Given the description of an element on the screen output the (x, y) to click on. 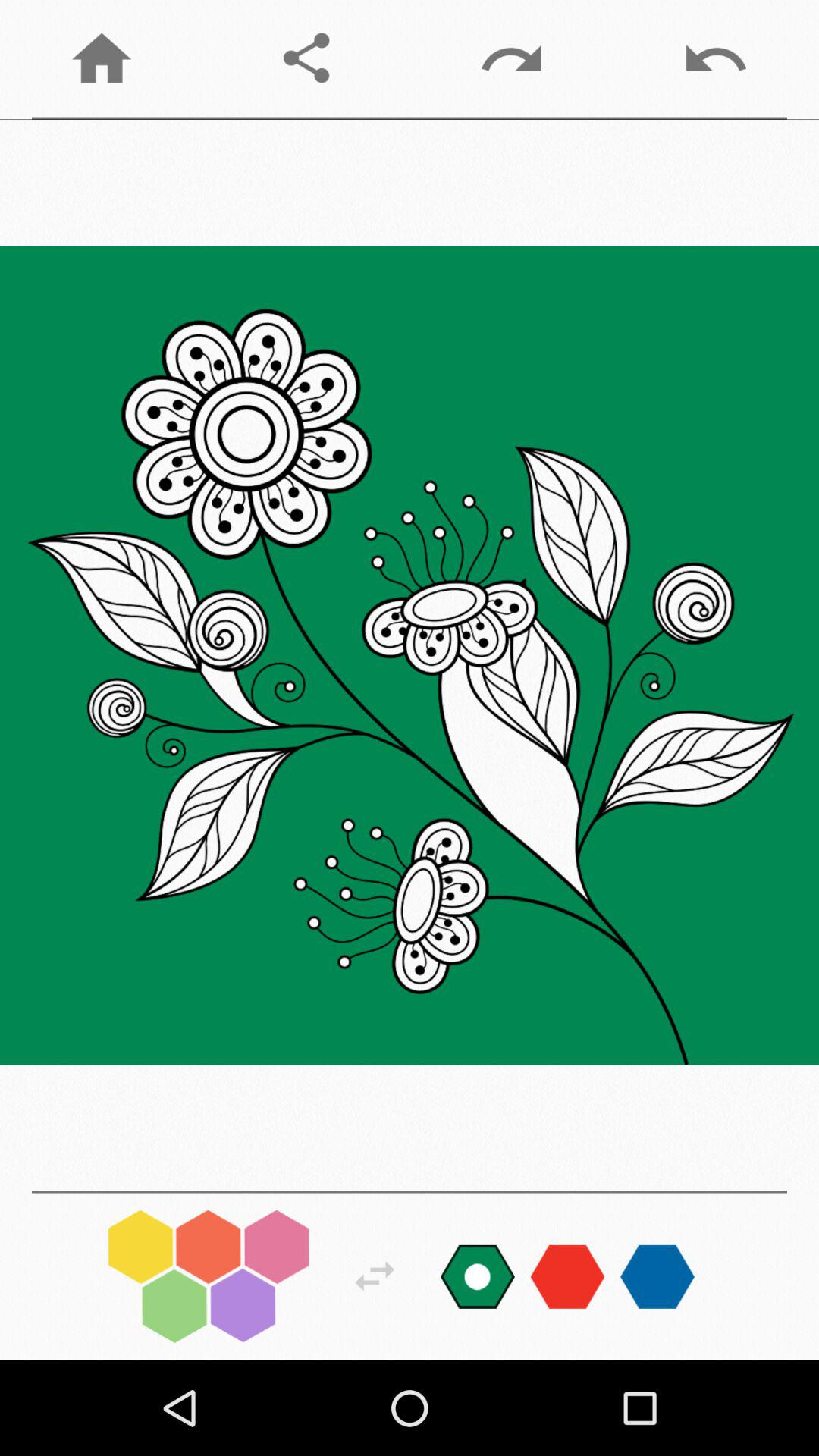
change options (374, 1276)
